Given the description of an element on the screen output the (x, y) to click on. 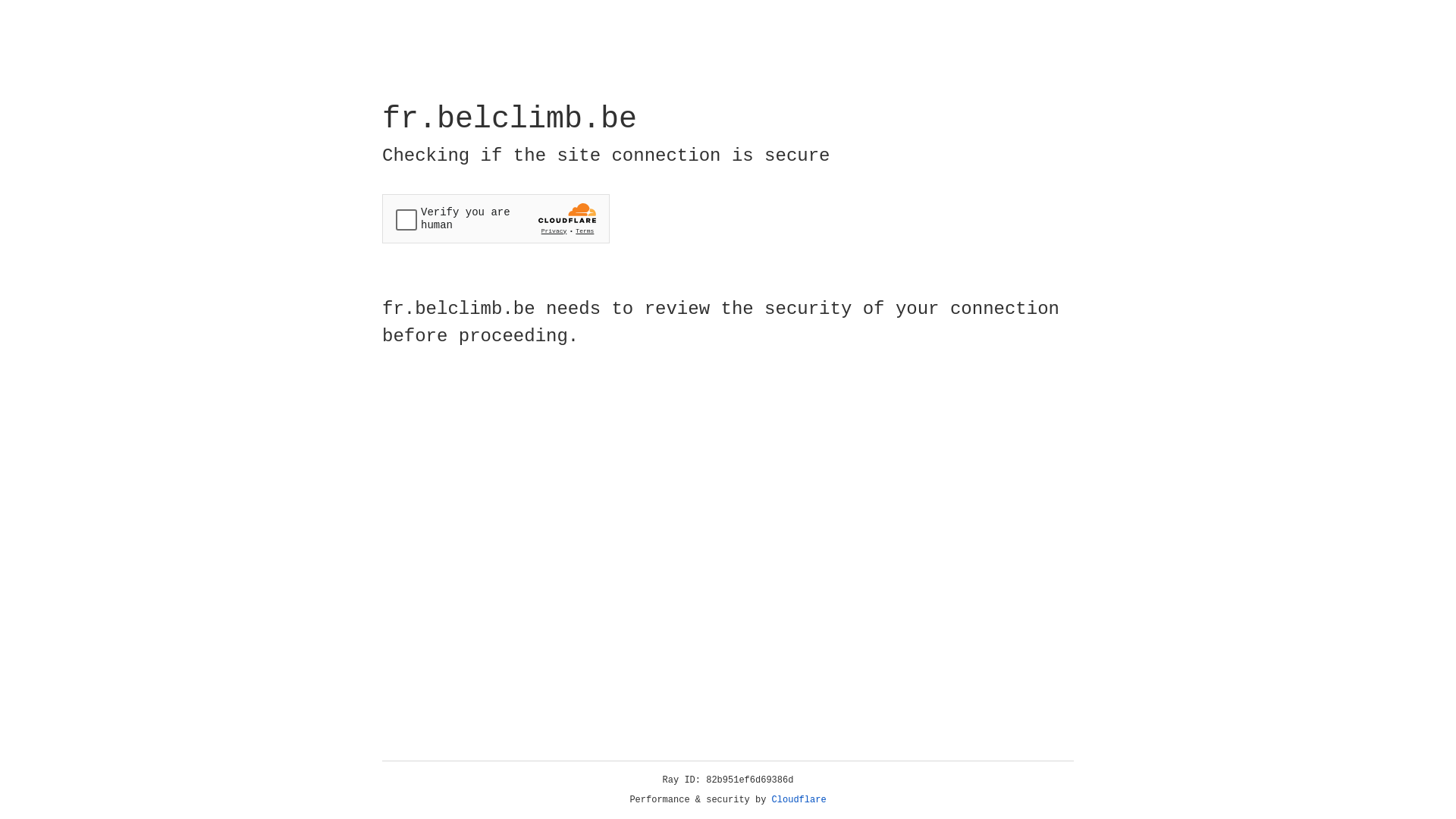
Widget containing a Cloudflare security challenge Element type: hover (495, 218)
Cloudflare Element type: text (798, 799)
